Given the description of an element on the screen output the (x, y) to click on. 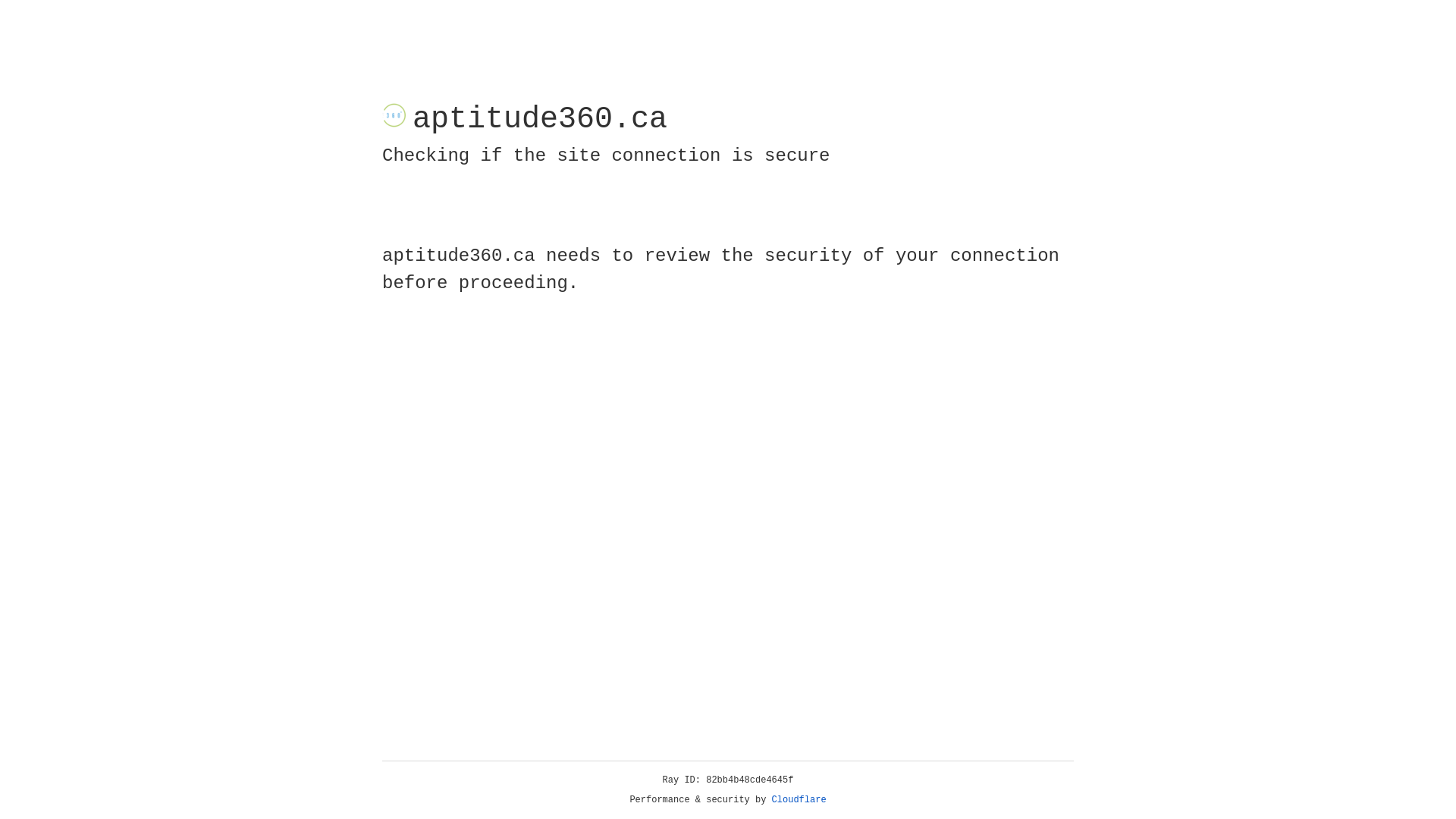
Cloudflare Element type: text (798, 799)
